Given the description of an element on the screen output the (x, y) to click on. 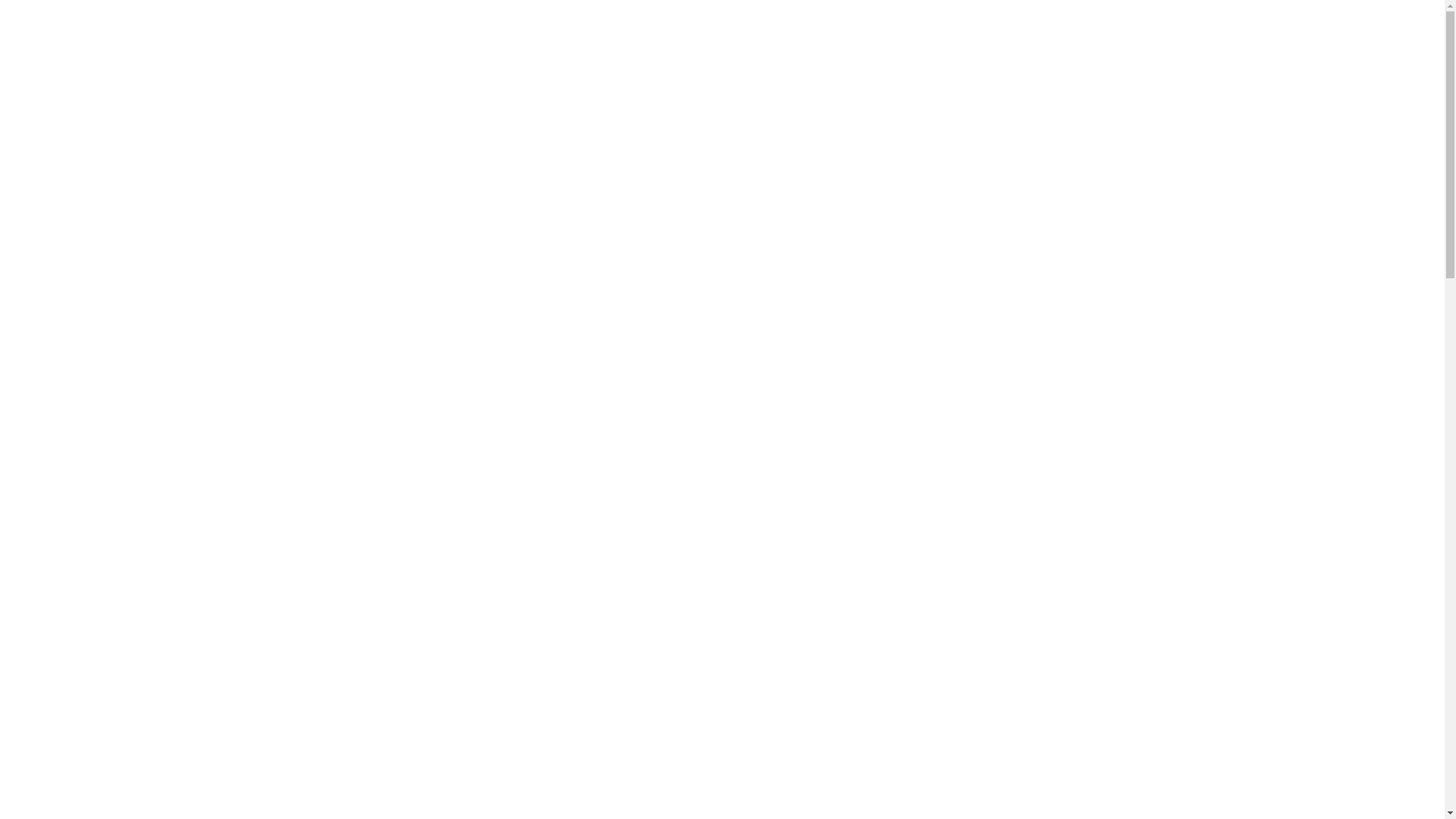
discover Element type: text (597, 41)
welcome Element type: text (498, 41)
explore Element type: text (846, 41)
contact Element type: text (945, 41)
